Given the description of an element on the screen output the (x, y) to click on. 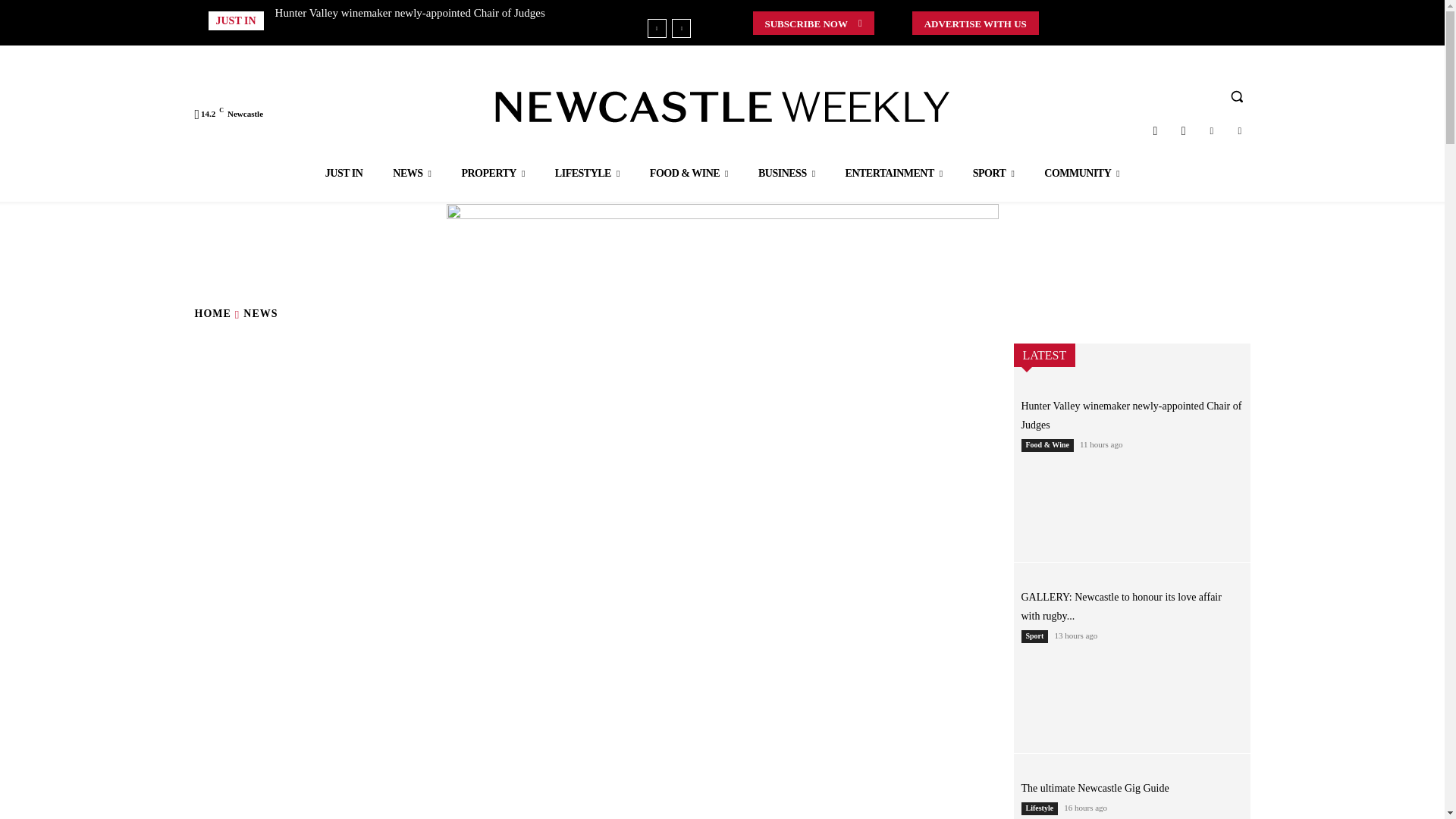
ADVERTISE WITH US (975, 22)
Hunter Valley winemaker newly-appointed Chair of Judges (409, 12)
Twitter (1211, 130)
JUST IN (344, 173)
SUBSCRIBE NOW (812, 22)
Instagram (1155, 130)
Newscastle Weekly (722, 106)
Hunter Valley winemaker newly-appointed Chair of Judges (409, 12)
Facebook (1183, 130)
